Given the description of an element on the screen output the (x, y) to click on. 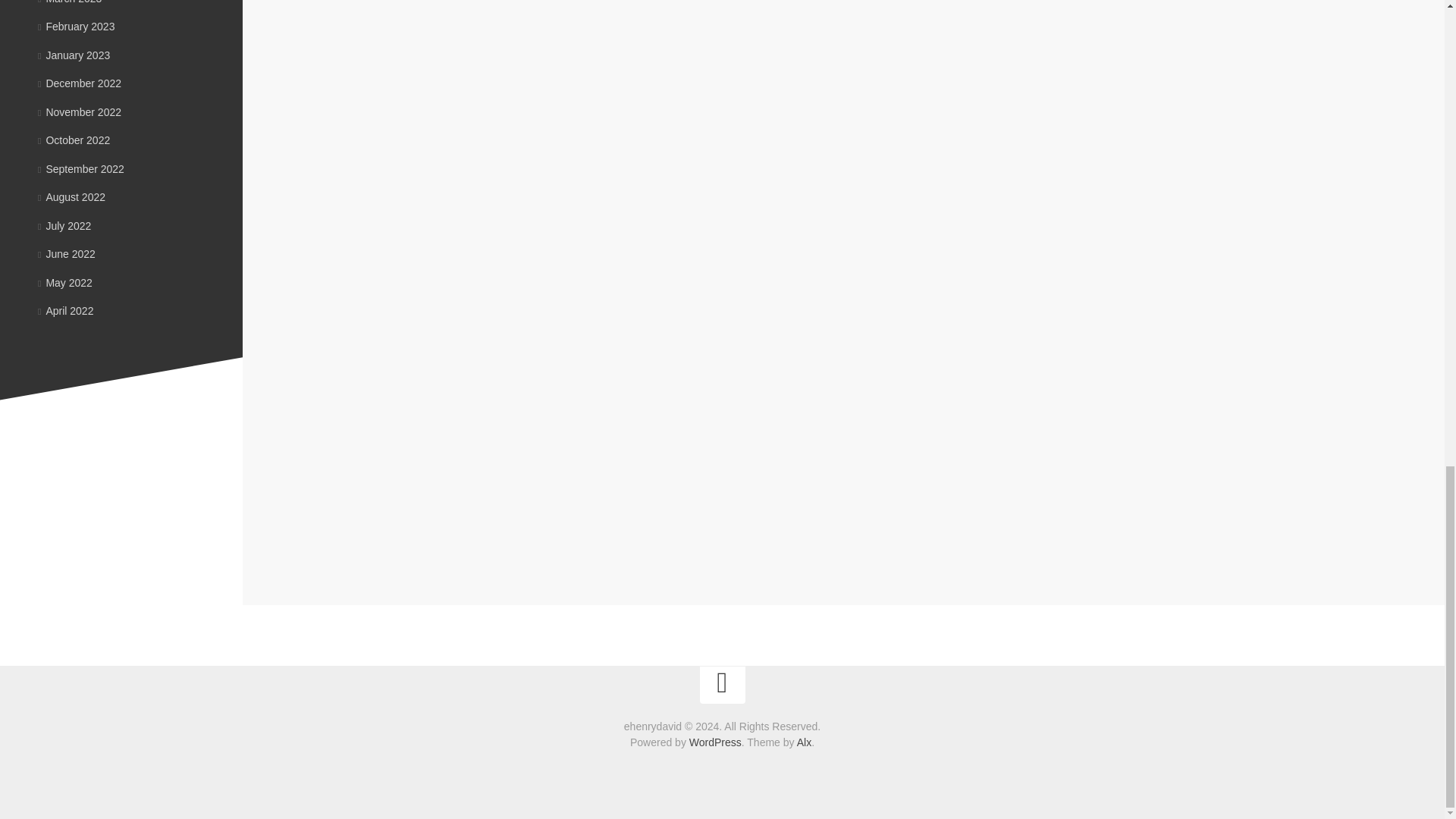
February 2023 (76, 26)
November 2022 (78, 111)
March 2023 (69, 2)
September 2022 (80, 168)
July 2022 (63, 224)
June 2022 (66, 254)
January 2023 (73, 55)
December 2022 (78, 82)
October 2022 (73, 140)
August 2022 (70, 196)
